Given the description of an element on the screen output the (x, y) to click on. 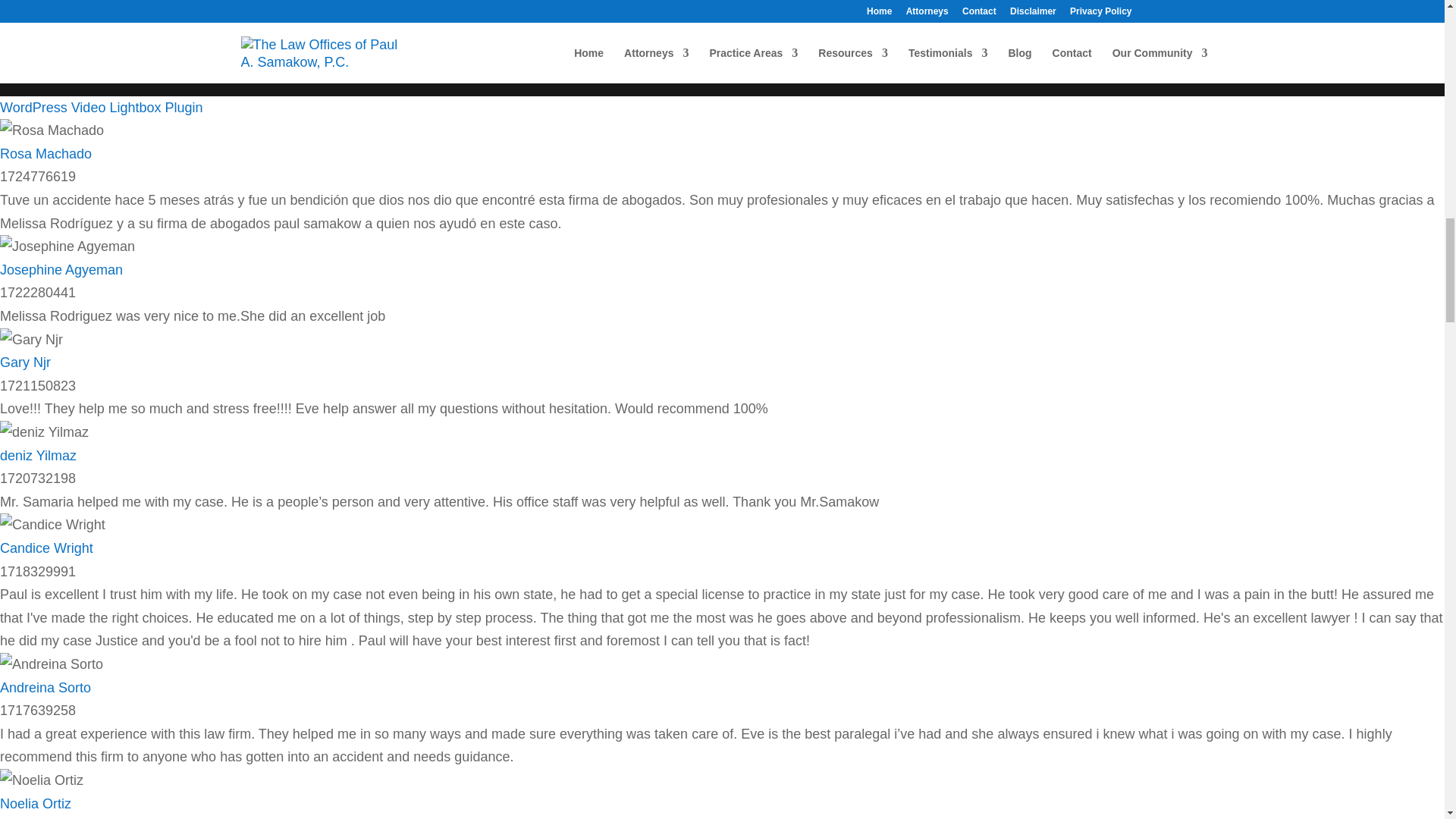
Rosa Machado (51, 130)
Josephine Agyeman (61, 269)
Gary Njr (31, 340)
deniz Yilmaz (44, 432)
Andreina Sorto (51, 664)
Candice Wright (52, 525)
deniz Yilmaz (38, 455)
Gary Njr (25, 362)
Andreina Sorto (45, 687)
Rosa Machado (45, 153)
